Given the description of an element on the screen output the (x, y) to click on. 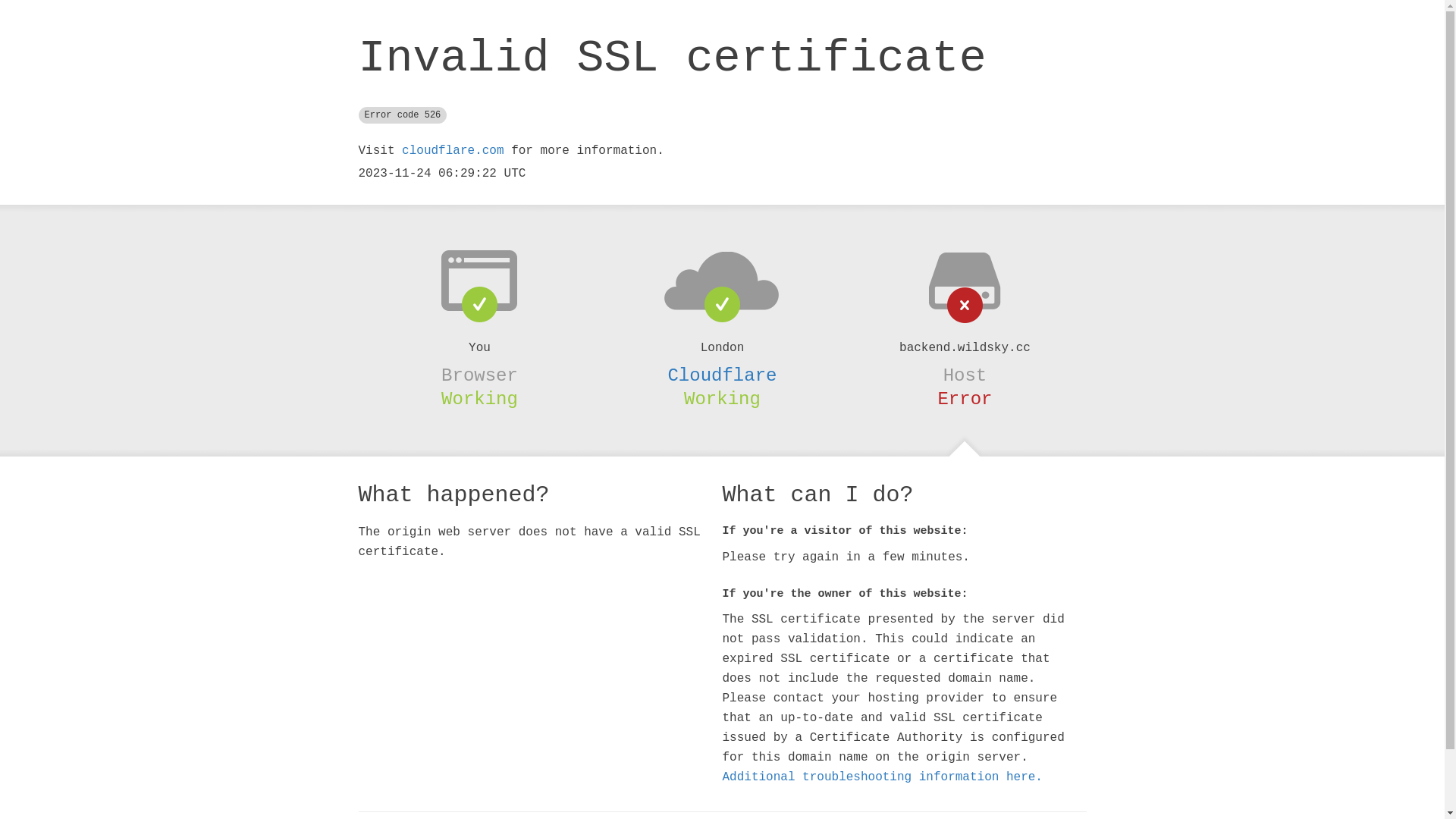
Additional troubleshooting information here. Element type: text (881, 777)
cloudflare.com Element type: text (452, 150)
Cloudflare Element type: text (721, 375)
